Given the description of an element on the screen output the (x, y) to click on. 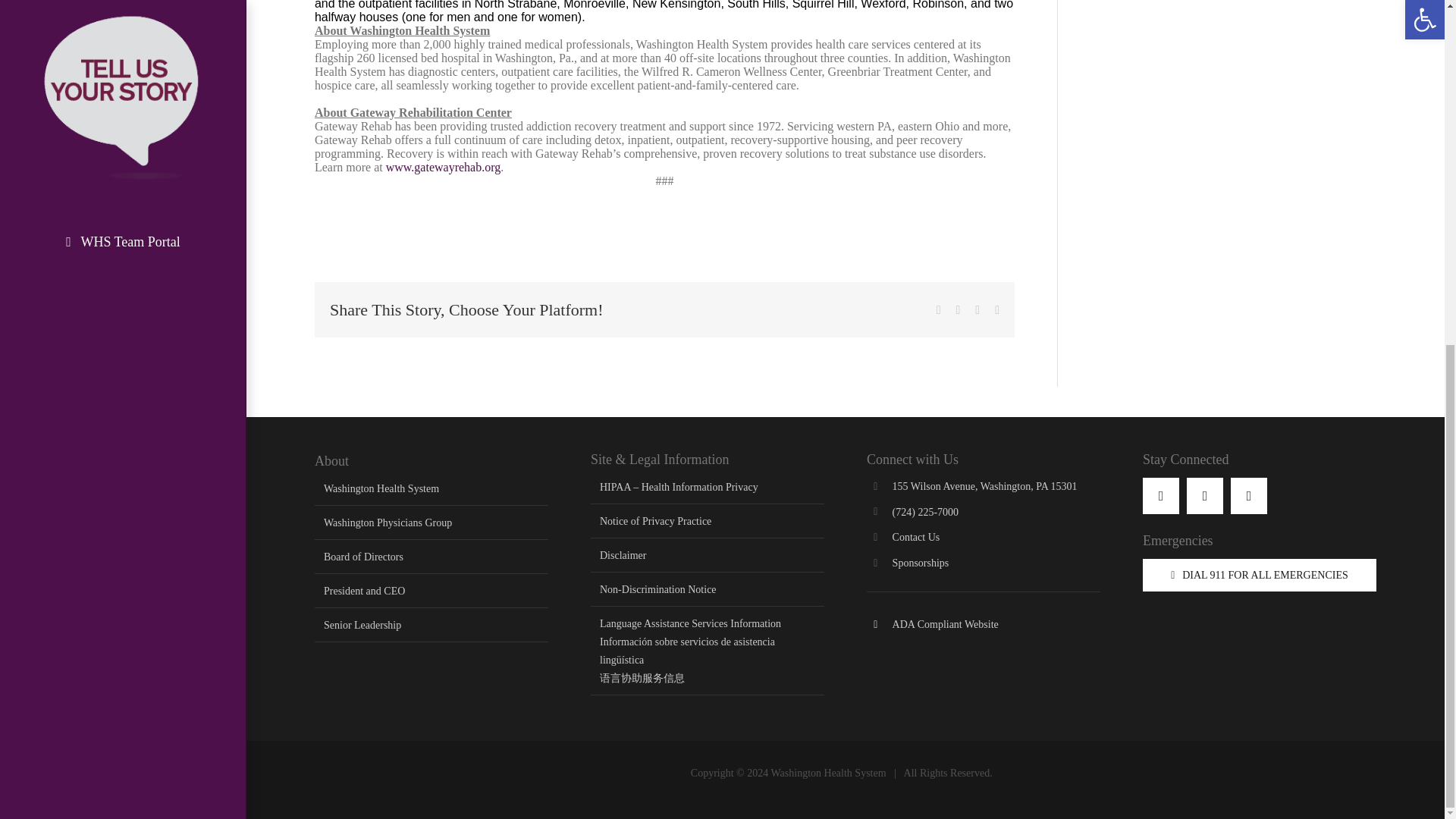
YouTube (1204, 495)
WHS Team Portal (122, 241)
Facebook (1160, 495)
X (1248, 495)
